Given the description of an element on the screen output the (x, y) to click on. 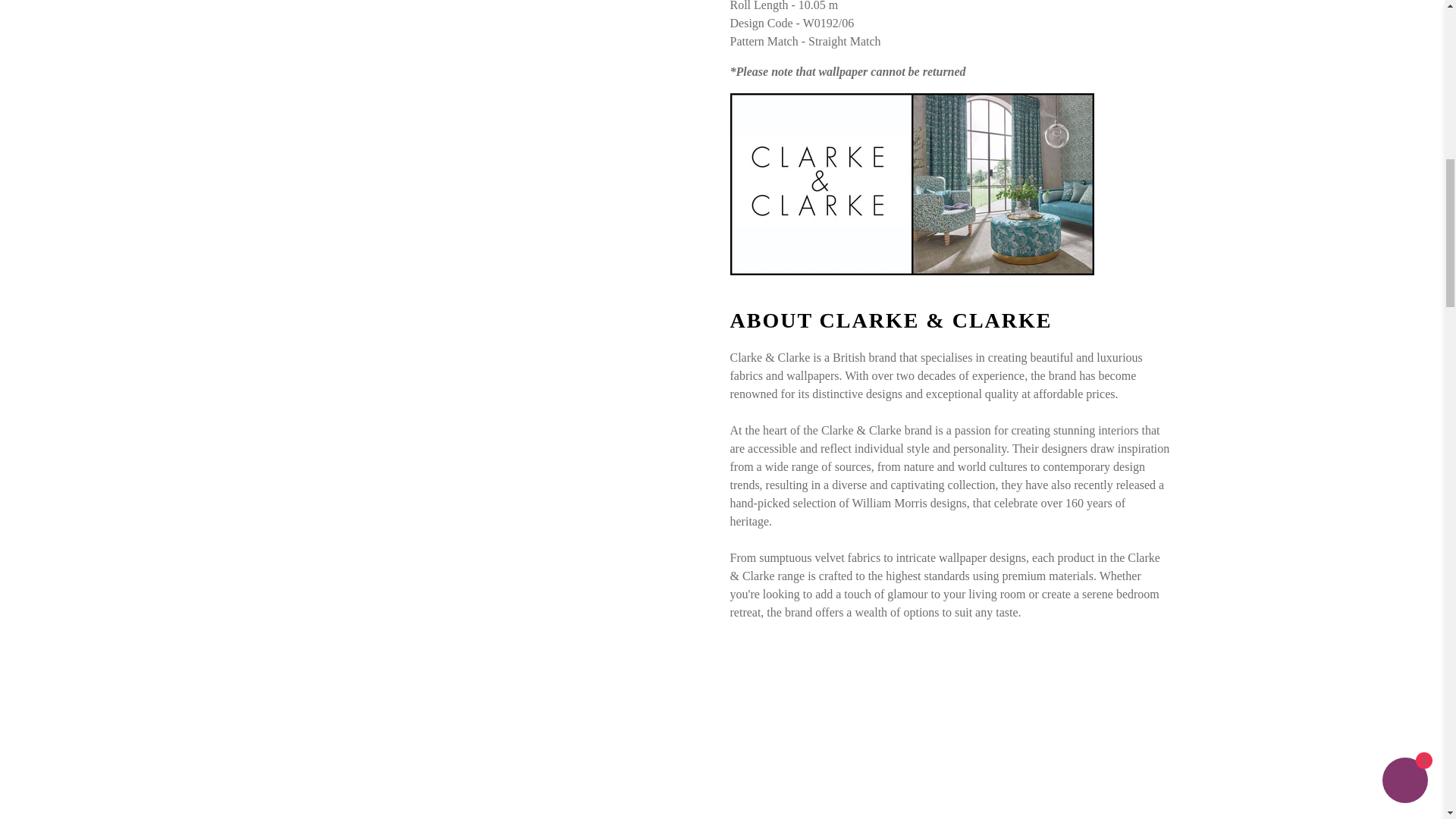
KY (1330, 406)
BN (1330, 145)
BF (1330, 210)
CA (1330, 341)
KH (1330, 276)
BG (1330, 178)
BI (1330, 243)
CV (1330, 373)
BR (1330, 62)
CM (1330, 308)
VG (1330, 104)
BA (1330, 7)
BW (1330, 30)
TD (1330, 439)
